Given the description of an element on the screen output the (x, y) to click on. 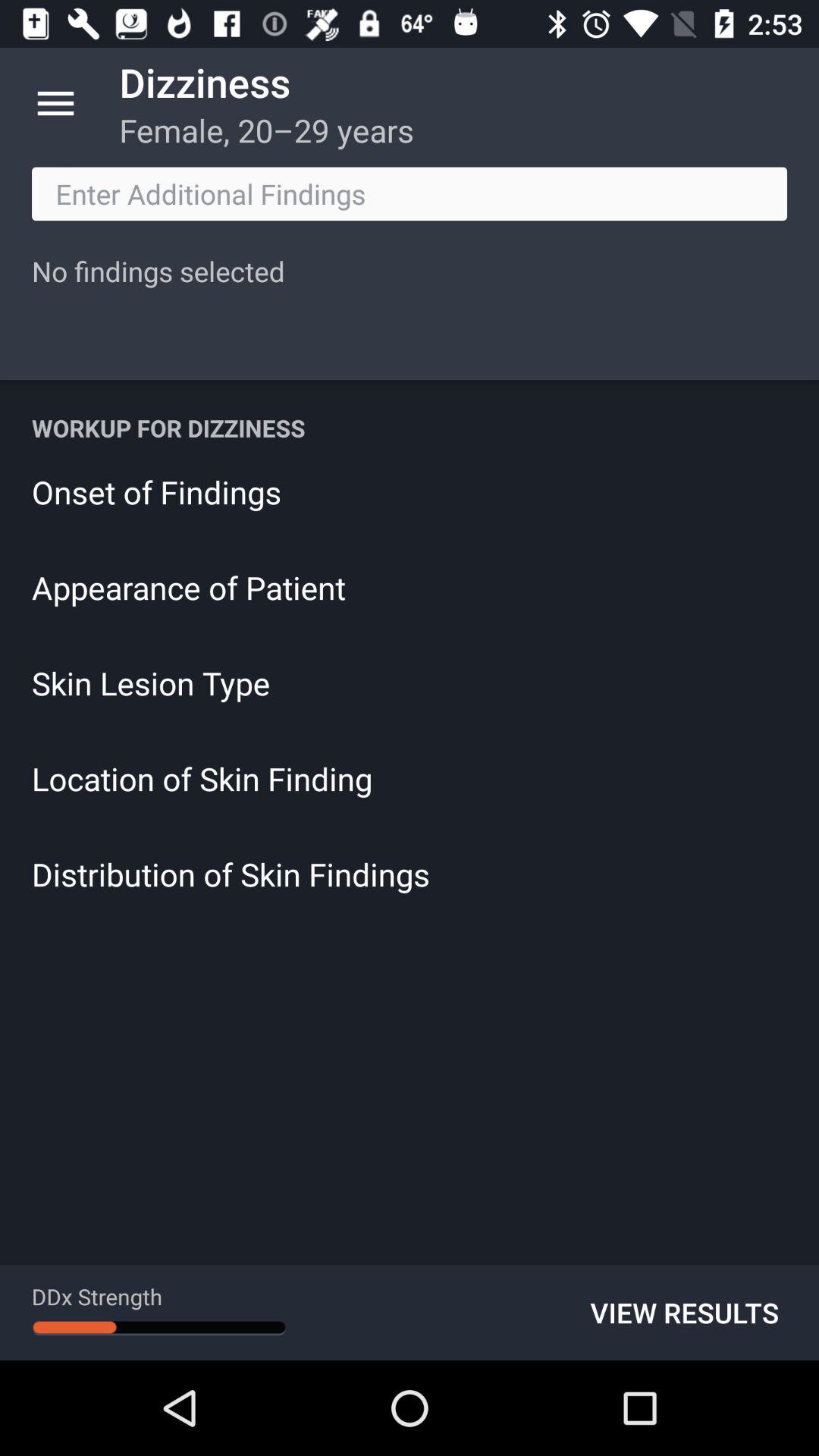
enter text (409, 193)
